Given the description of an element on the screen output the (x, y) to click on. 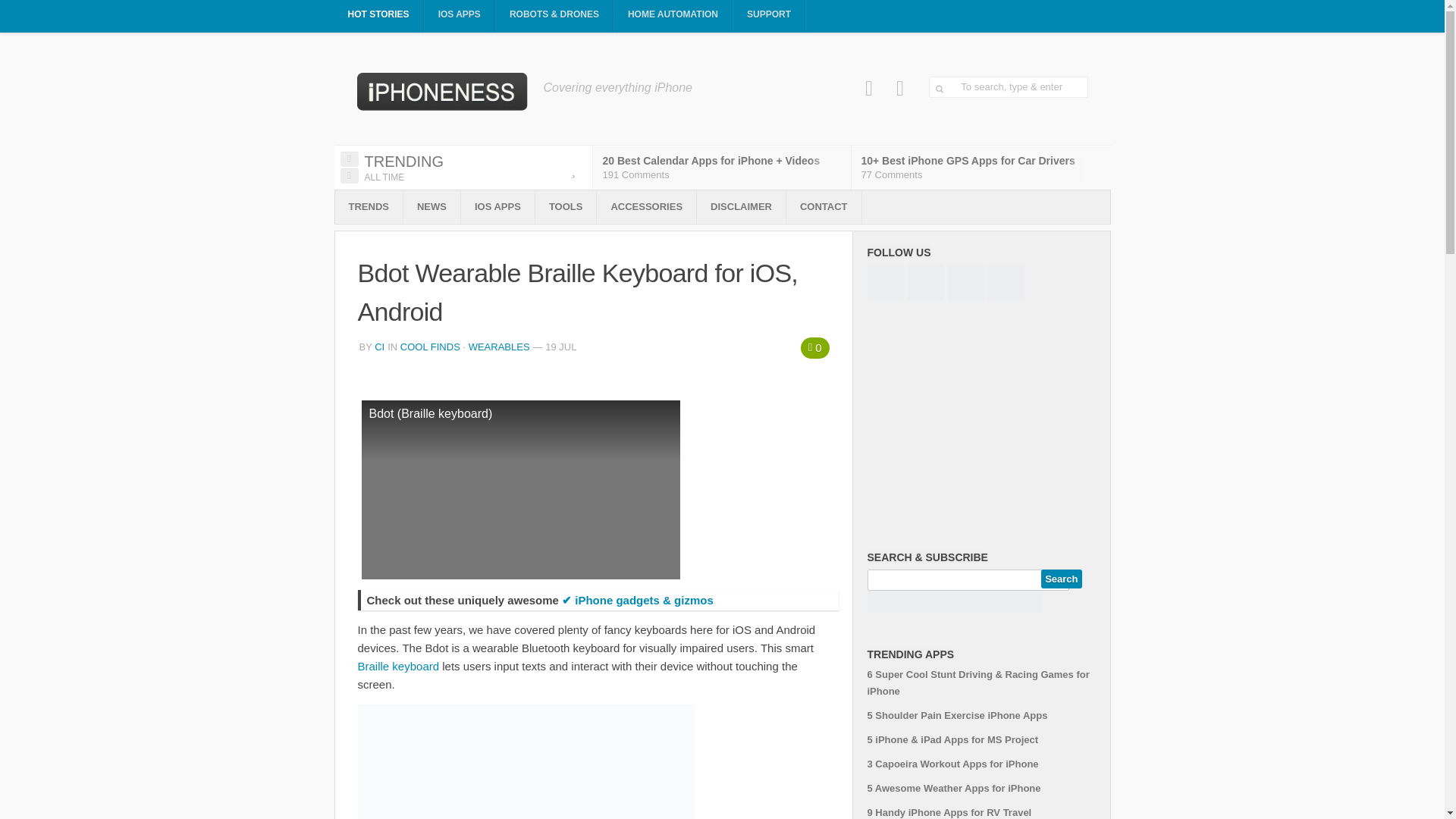
SUPPORT (769, 16)
Facebook (869, 87)
HOME AUTOMATION (673, 16)
TRENDS (368, 206)
IOS APPS (460, 16)
HOT STORIES (377, 16)
Search (1061, 578)
NEWS (431, 206)
Pinterest (900, 87)
